Given the description of an element on the screen output the (x, y) to click on. 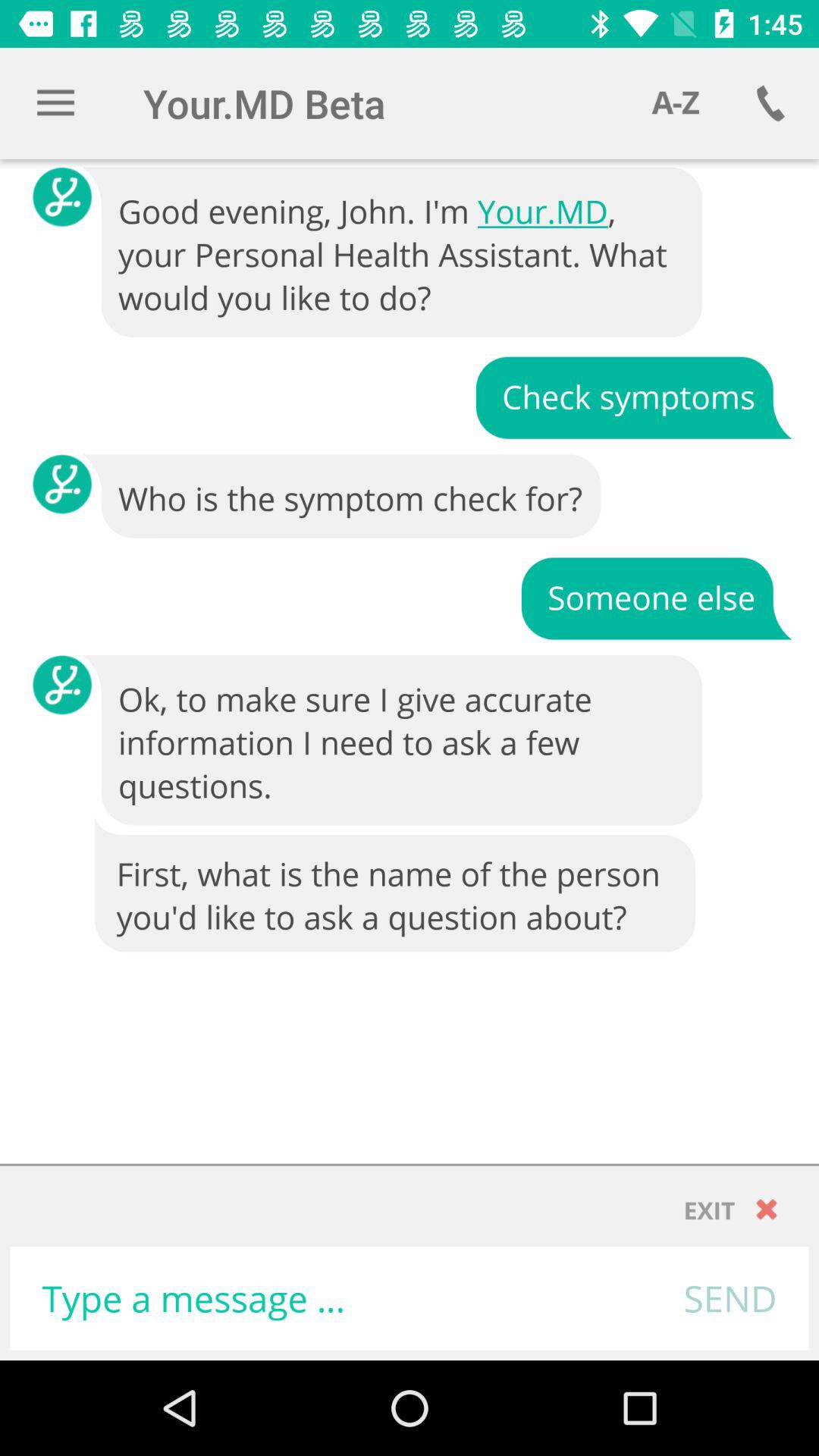
press item below the exit item (729, 1298)
